Given the description of an element on the screen output the (x, y) to click on. 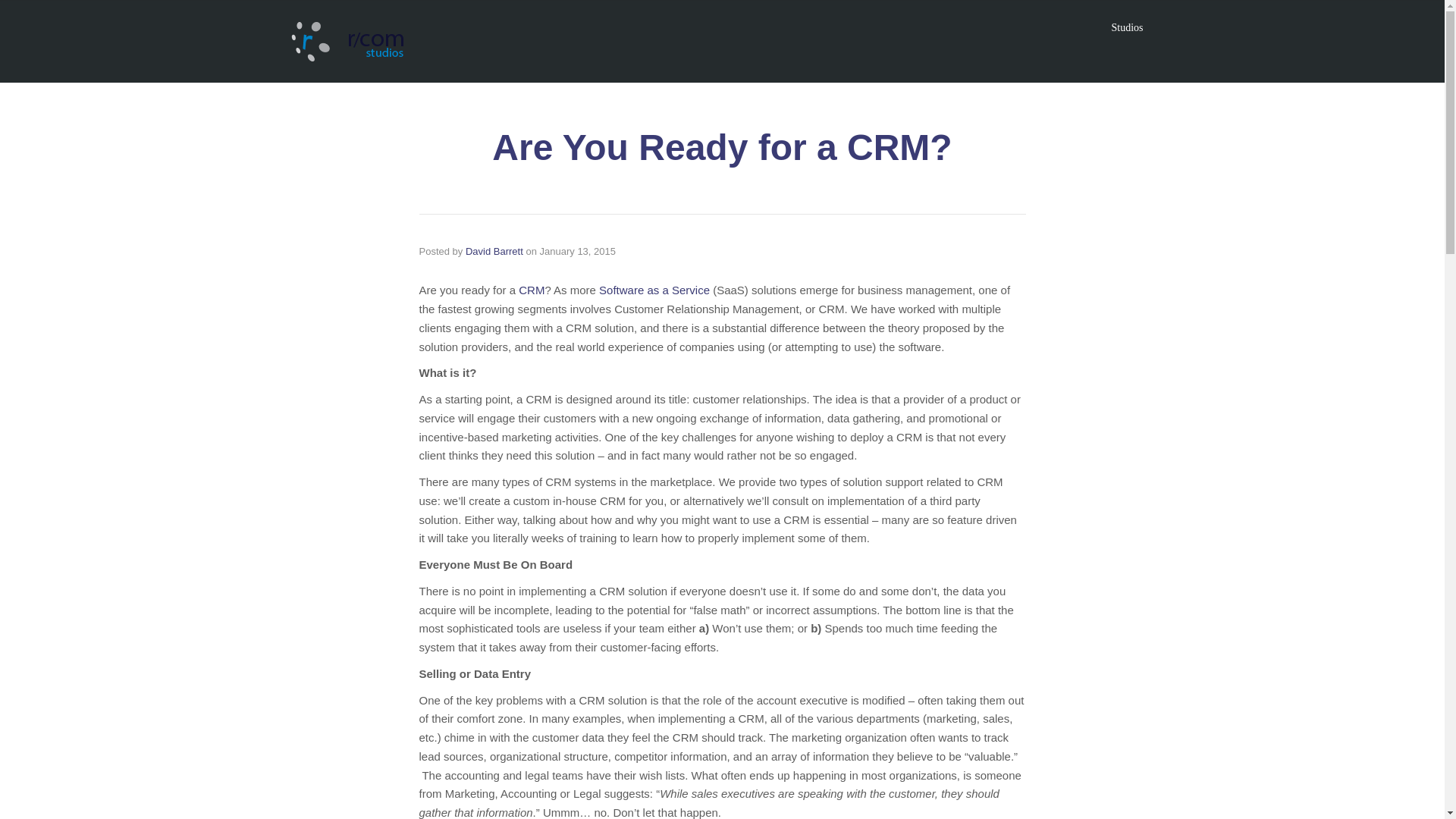
David Barrett (493, 251)
Software as a Service (654, 289)
Posts by David Barrett (493, 251)
CRM (531, 289)
